Given the description of an element on the screen output the (x, y) to click on. 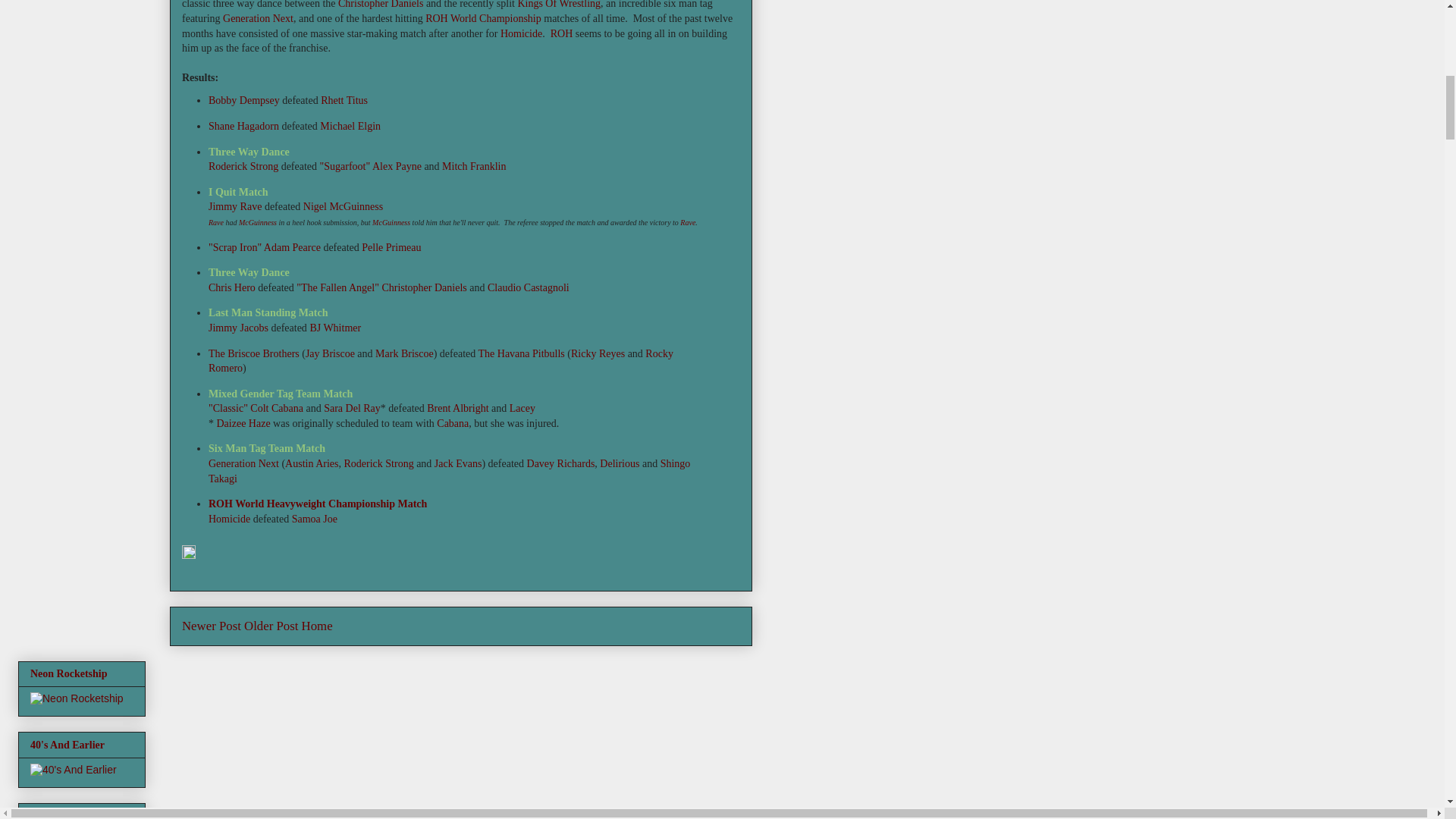
Shane Hagadorn (243, 125)
Rhett Titus (344, 100)
Kings Of Wrestling (557, 4)
Nigel McGuinness (342, 206)
ROH World Championship (483, 18)
Jimmy Rave (235, 206)
Rave (216, 222)
Older Post (271, 626)
Newer Post (211, 626)
Roderick Strong (243, 165)
Mitch Franklin (473, 165)
Christopher Daniels (380, 4)
Edit Post (188, 555)
ROH (561, 32)
Generation Next (258, 18)
